Given the description of an element on the screen output the (x, y) to click on. 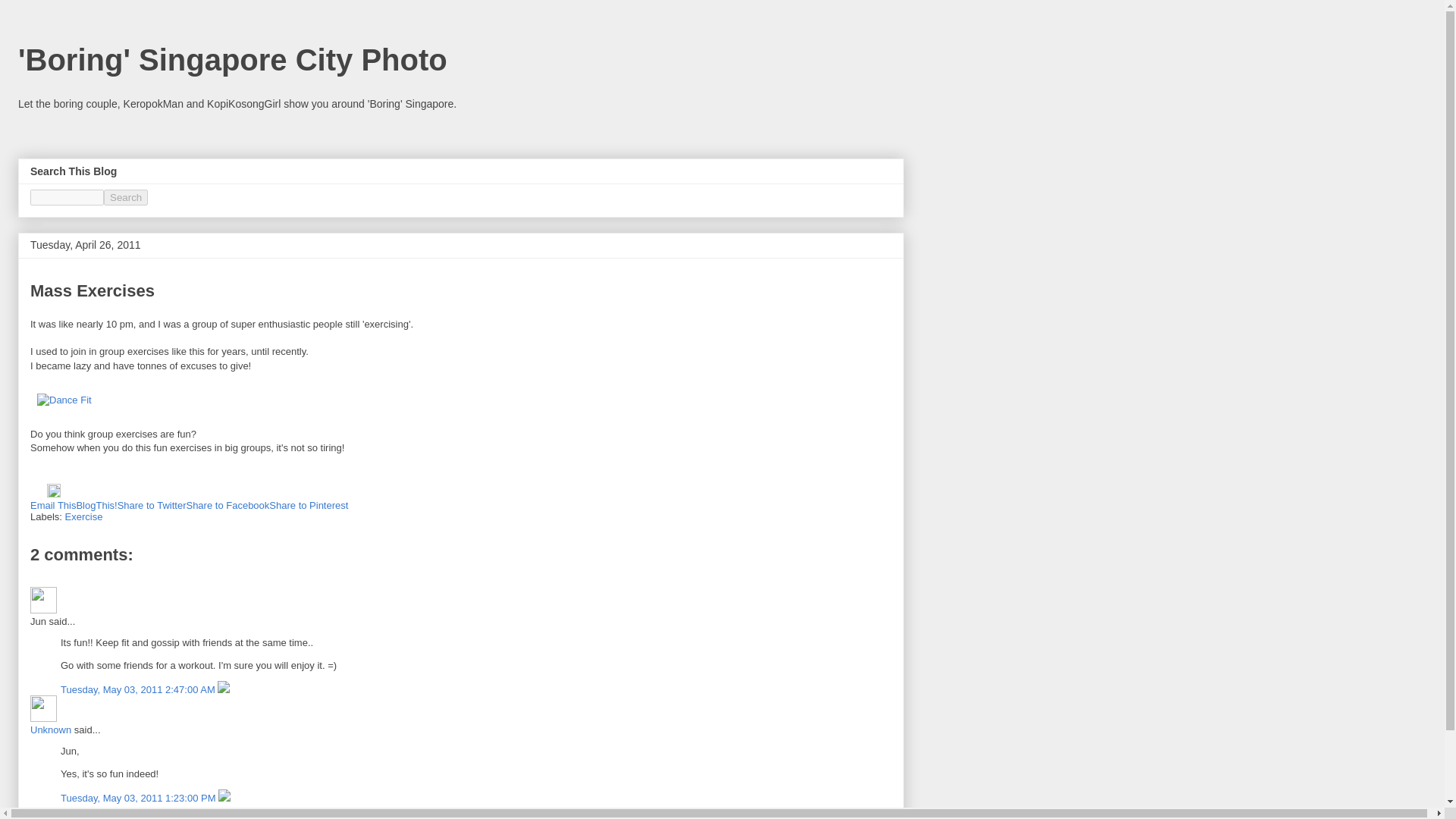
Share to Facebook (227, 505)
comment permalink (138, 689)
BlogThis! (95, 505)
Unknown (50, 729)
Tuesday, May 03, 2011 1:23:00 PM (139, 797)
Post a Comment (66, 816)
Share to Twitter (151, 505)
BlogThis! (95, 505)
Share to Facebook (227, 505)
Delete Comment (223, 689)
